Given the description of an element on the screen output the (x, y) to click on. 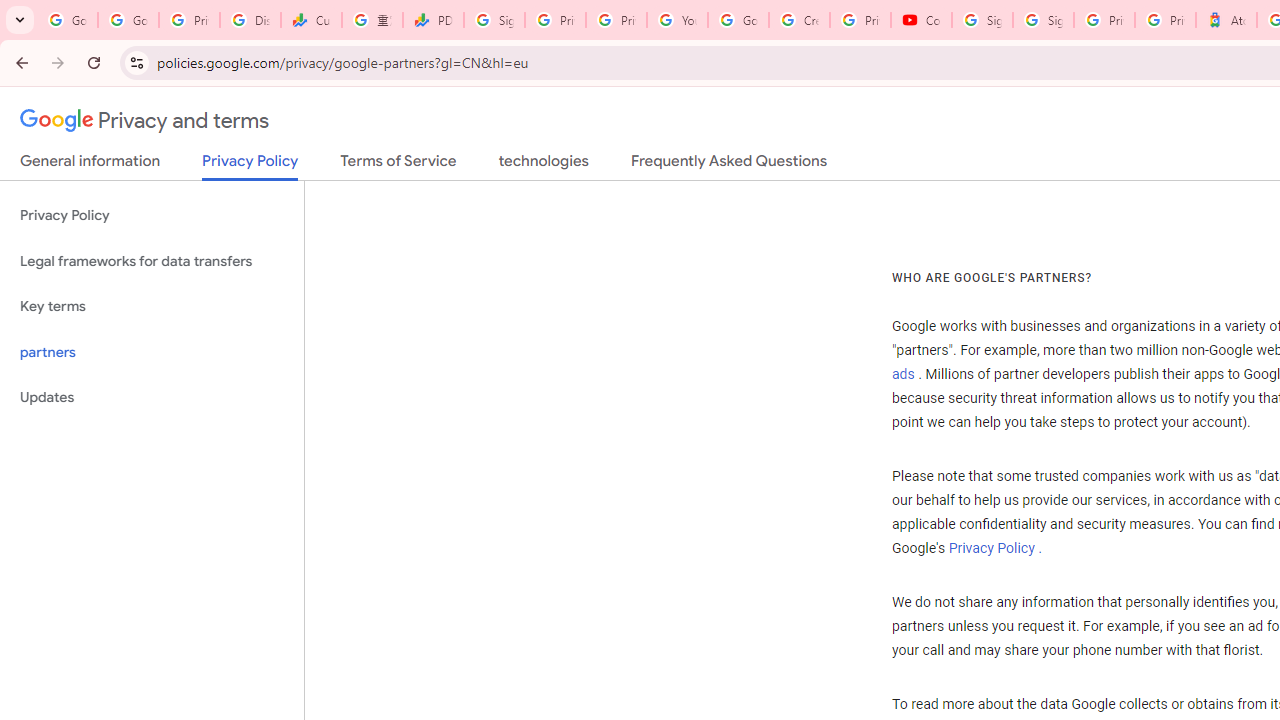
Legal frameworks for data transfers (152, 261)
Create your Google Account (799, 20)
PDD Holdings Inc - ADR (PDD) Price & News - Google Finance (433, 20)
Atour Hotel - Google hotels (1225, 20)
Privacy Policy . (994, 549)
technologies (542, 165)
Content Creator Programs & Opportunities - YouTube Creators (921, 20)
